Given the description of an element on the screen output the (x, y) to click on. 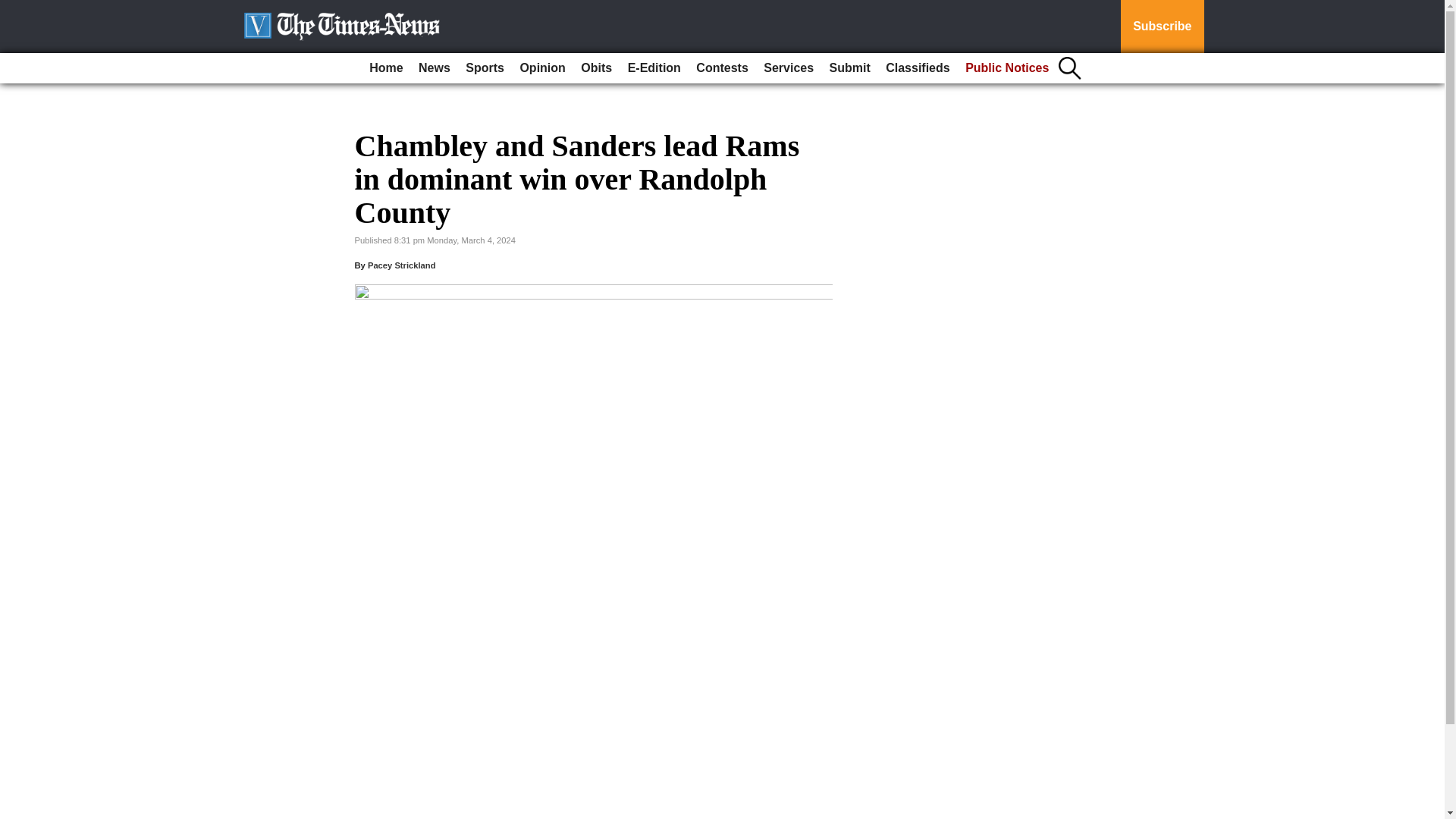
Contests (722, 68)
Classifieds (917, 68)
Submit (850, 68)
Subscribe (1162, 26)
Home (385, 68)
Go (13, 9)
Obits (596, 68)
Services (788, 68)
Pacey Strickland (401, 265)
E-Edition (654, 68)
